Given the description of an element on the screen output the (x, y) to click on. 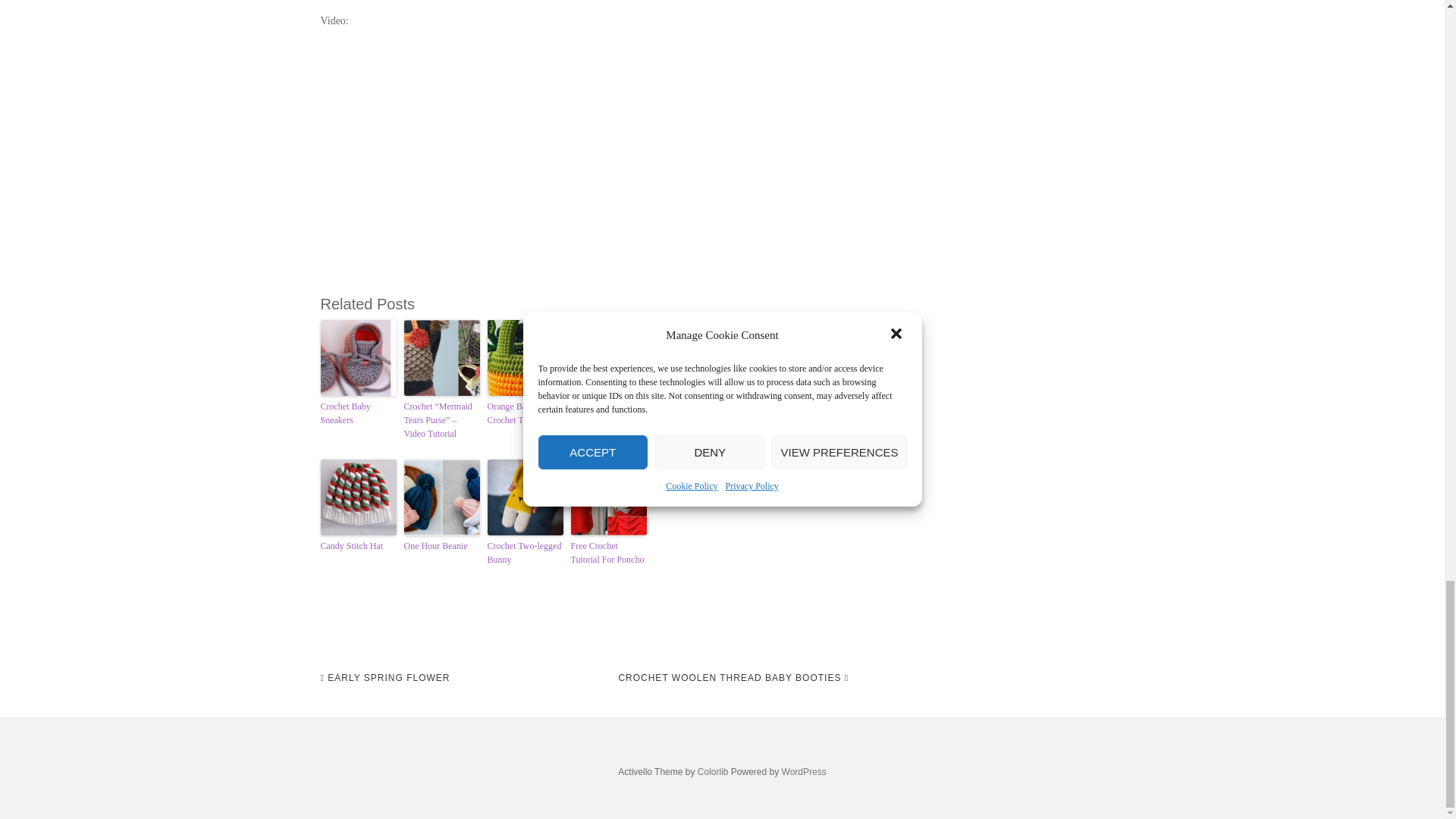
Knit Seamless Slippers (608, 412)
Crochet Noise Maker Balls (774, 412)
Candy Stitch Hat (358, 545)
Crochet Baby Sneakers (358, 412)
Orange Basket Crochet Tutorial (524, 412)
YouTube video player (532, 162)
